Given the description of an element on the screen output the (x, y) to click on. 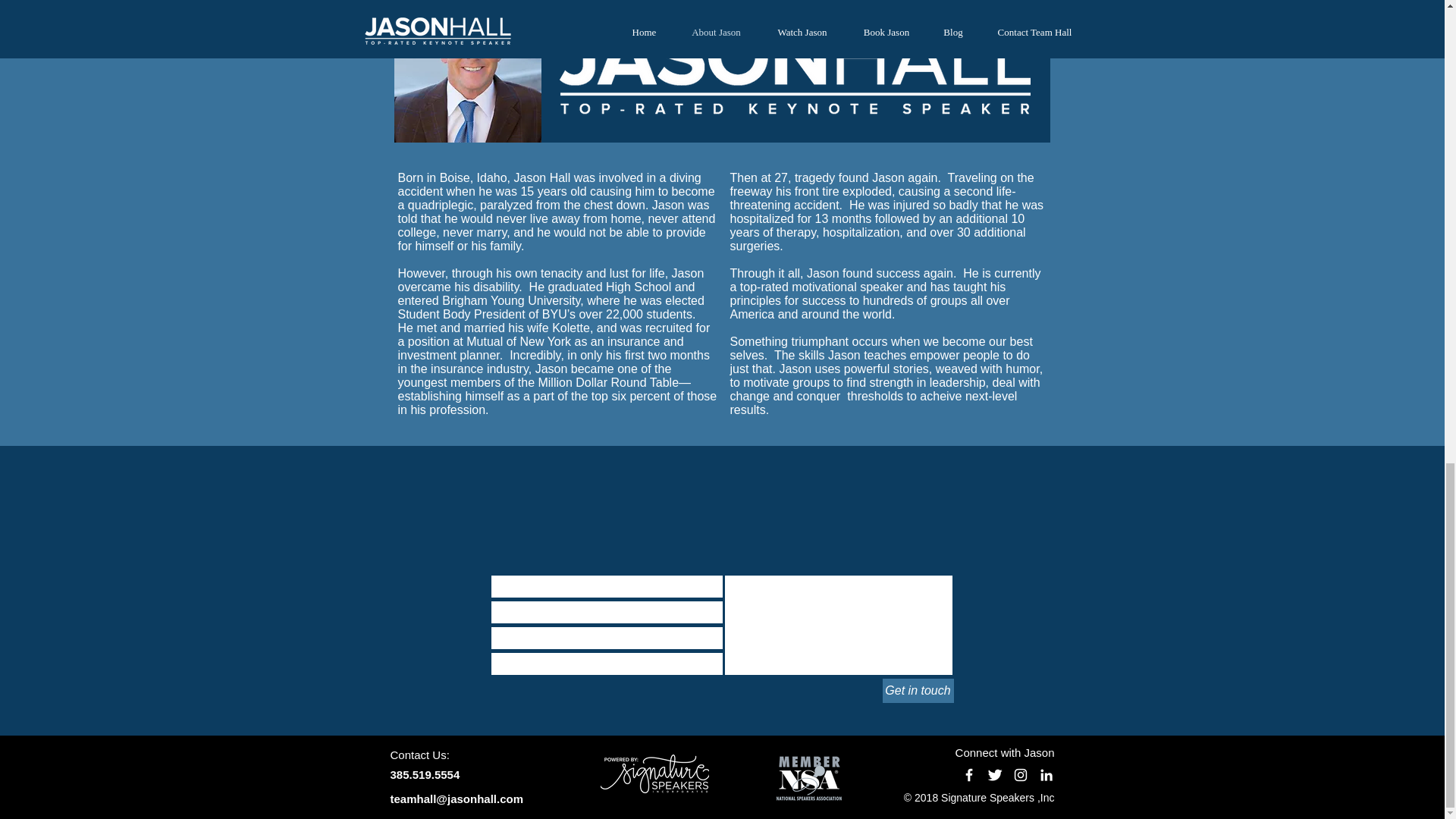
NSA Member Logo.png (808, 777)
Signature Speakers Powered White.png (654, 773)
JH Logo L Blue.png (795, 30)
Get in touch (917, 690)
385.519.5554 (425, 774)
JH Logo Keynote White.png (793, 72)
